Given the description of an element on the screen output the (x, y) to click on. 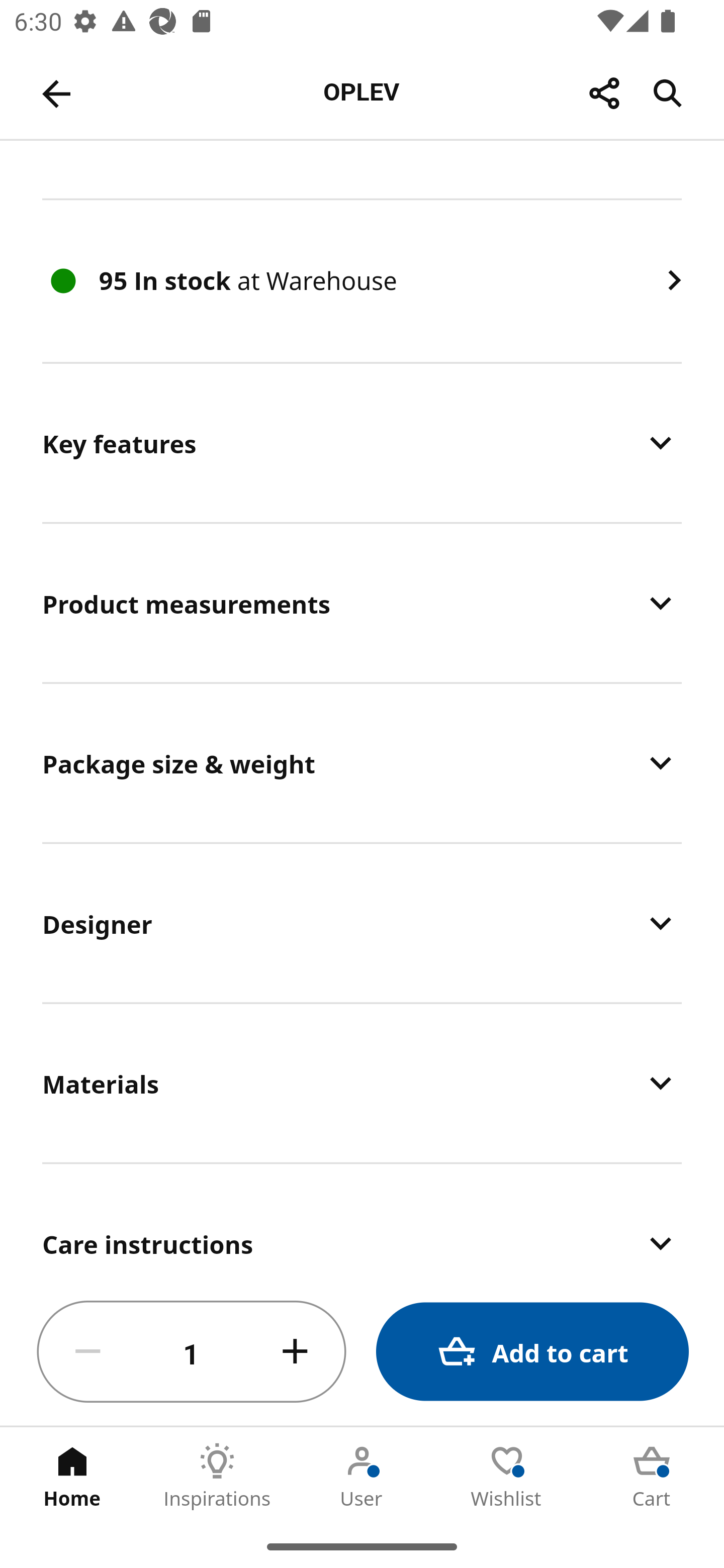
95 In stock at Warehouse (361, 281)
Key features (361, 442)
Product measurements (361, 602)
Package size & weight (361, 762)
Designer (361, 922)
Materials (361, 1082)
Care instructions (361, 1221)
Add to cart (531, 1352)
1 (191, 1352)
Home
Tab 1 of 5 (72, 1476)
Inspirations
Tab 2 of 5 (216, 1476)
User
Tab 3 of 5 (361, 1476)
Wishlist
Tab 4 of 5 (506, 1476)
Cart
Tab 5 of 5 (651, 1476)
